Given the description of an element on the screen output the (x, y) to click on. 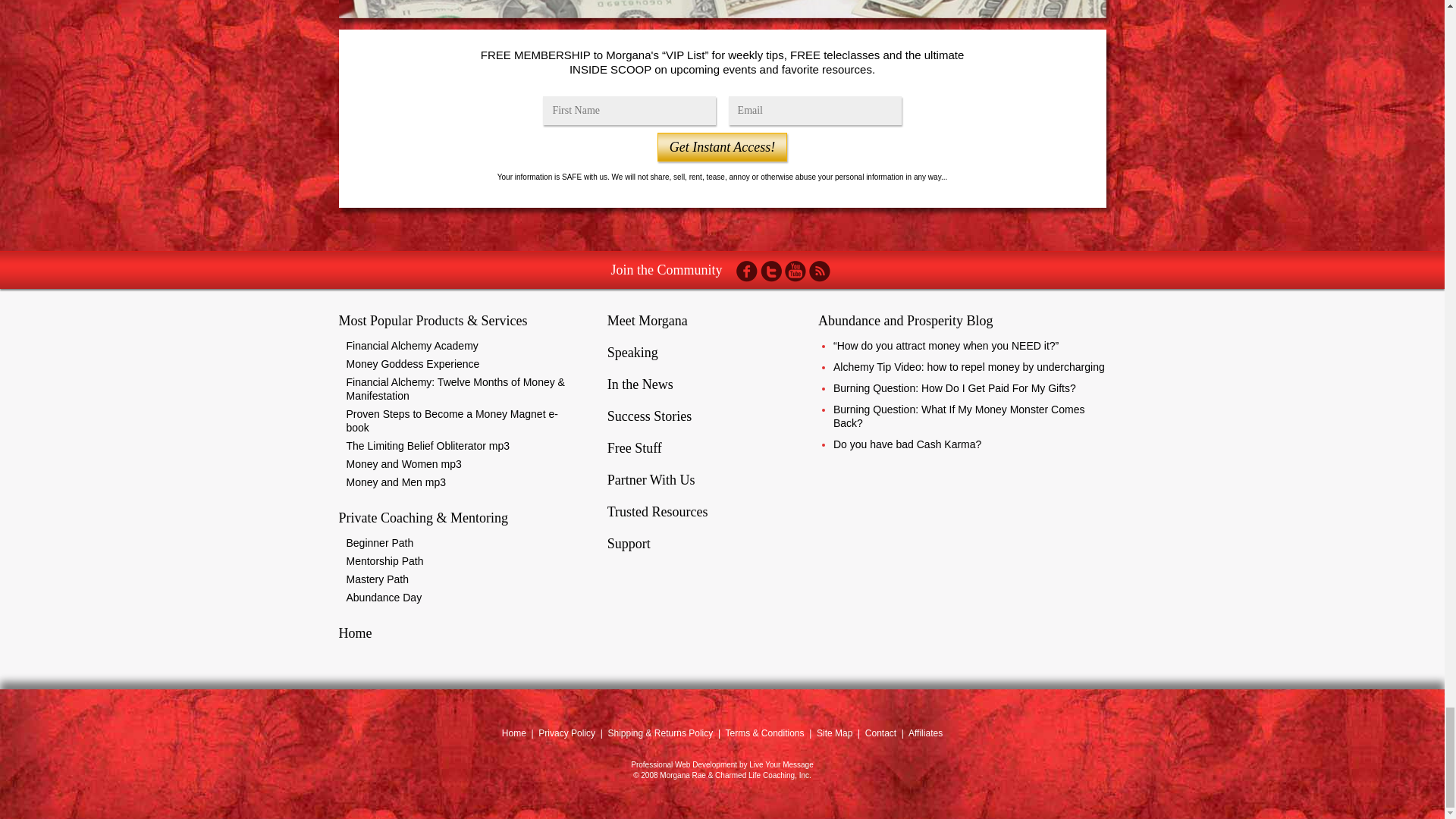
Get Instant Access! (722, 146)
